Given the description of an element on the screen output the (x, y) to click on. 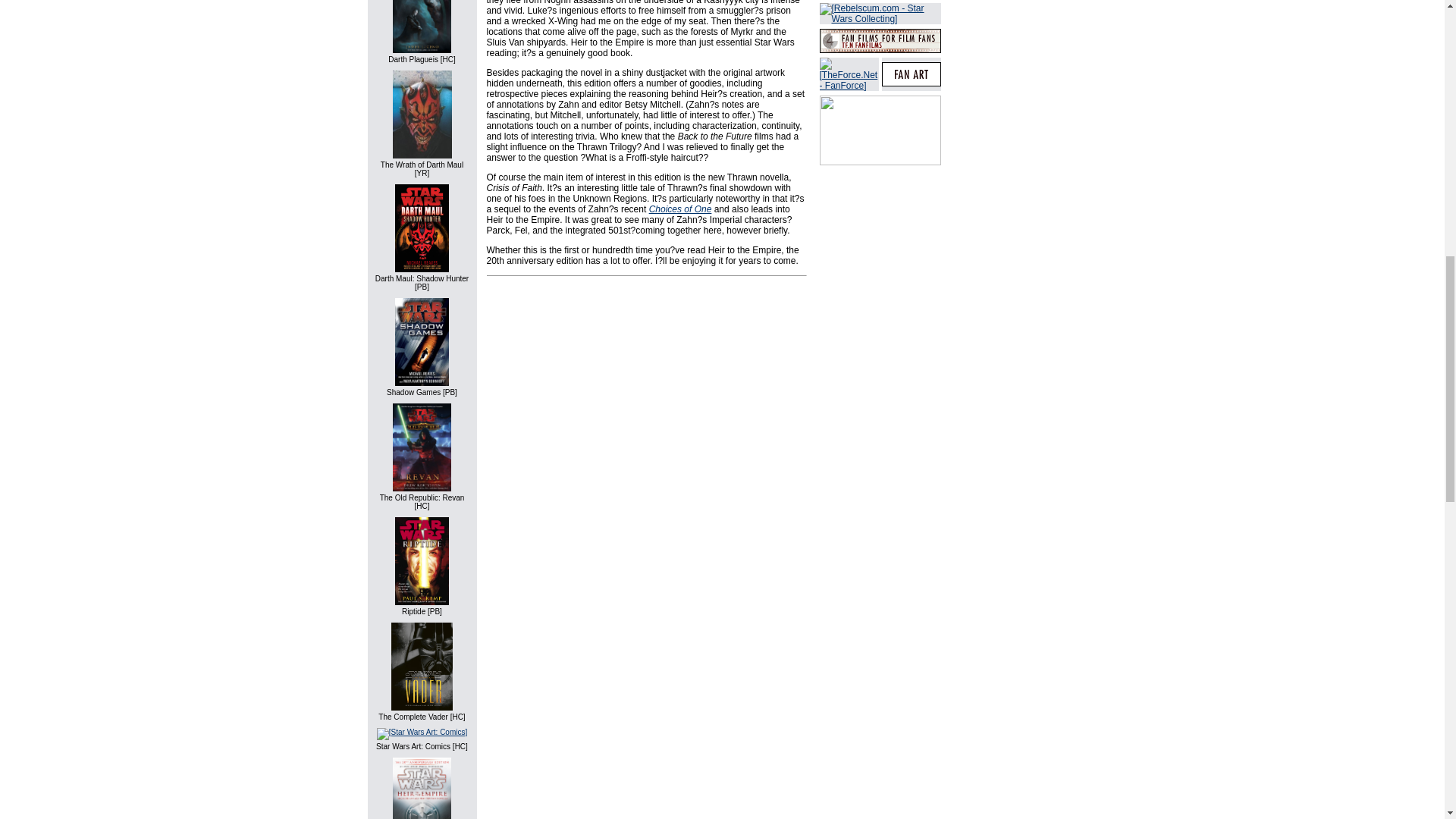
Choices of One (680, 208)
